Given the description of an element on the screen output the (x, y) to click on. 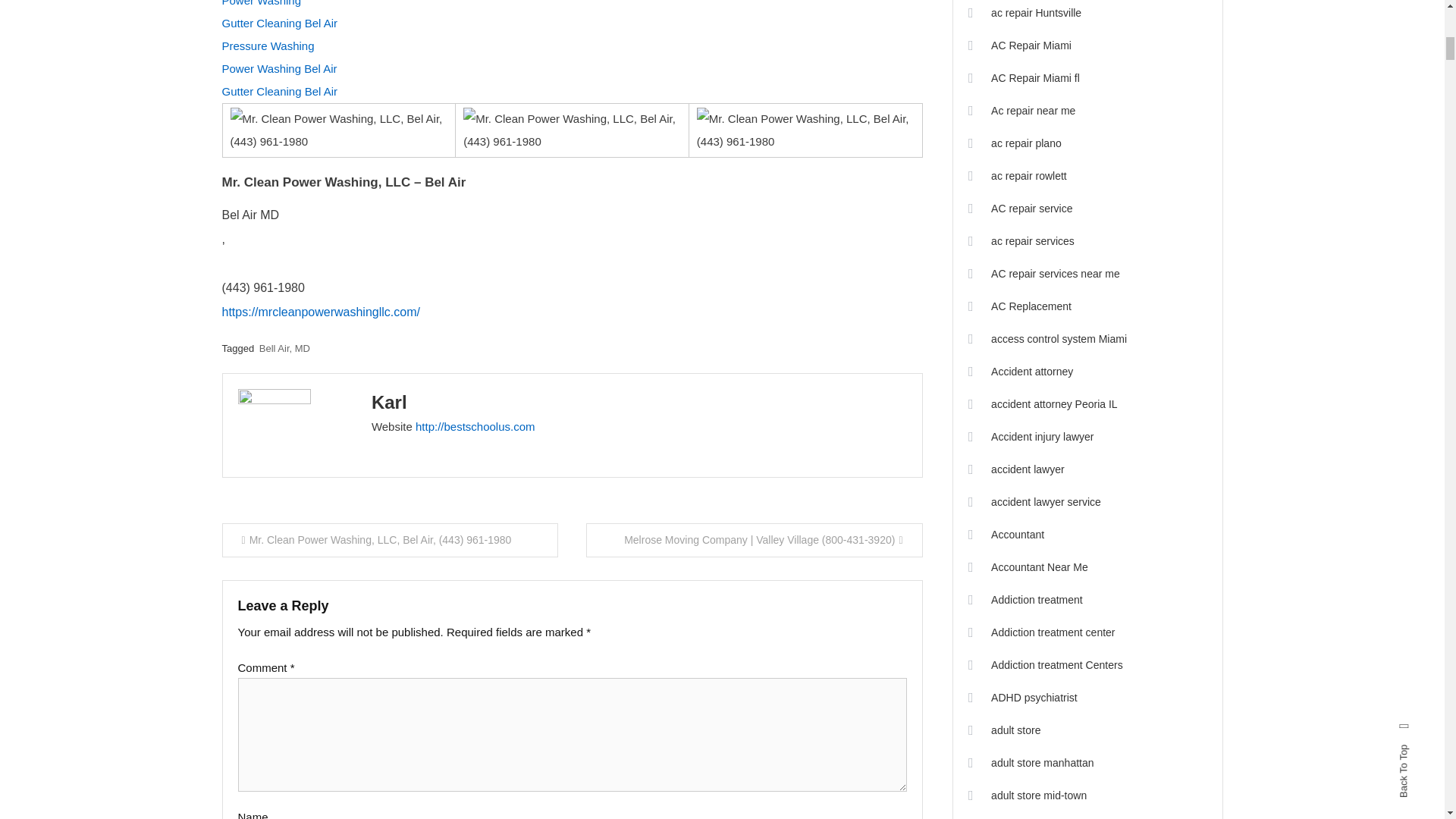
Posts by Karl (389, 402)
